Given the description of an element on the screen output the (x, y) to click on. 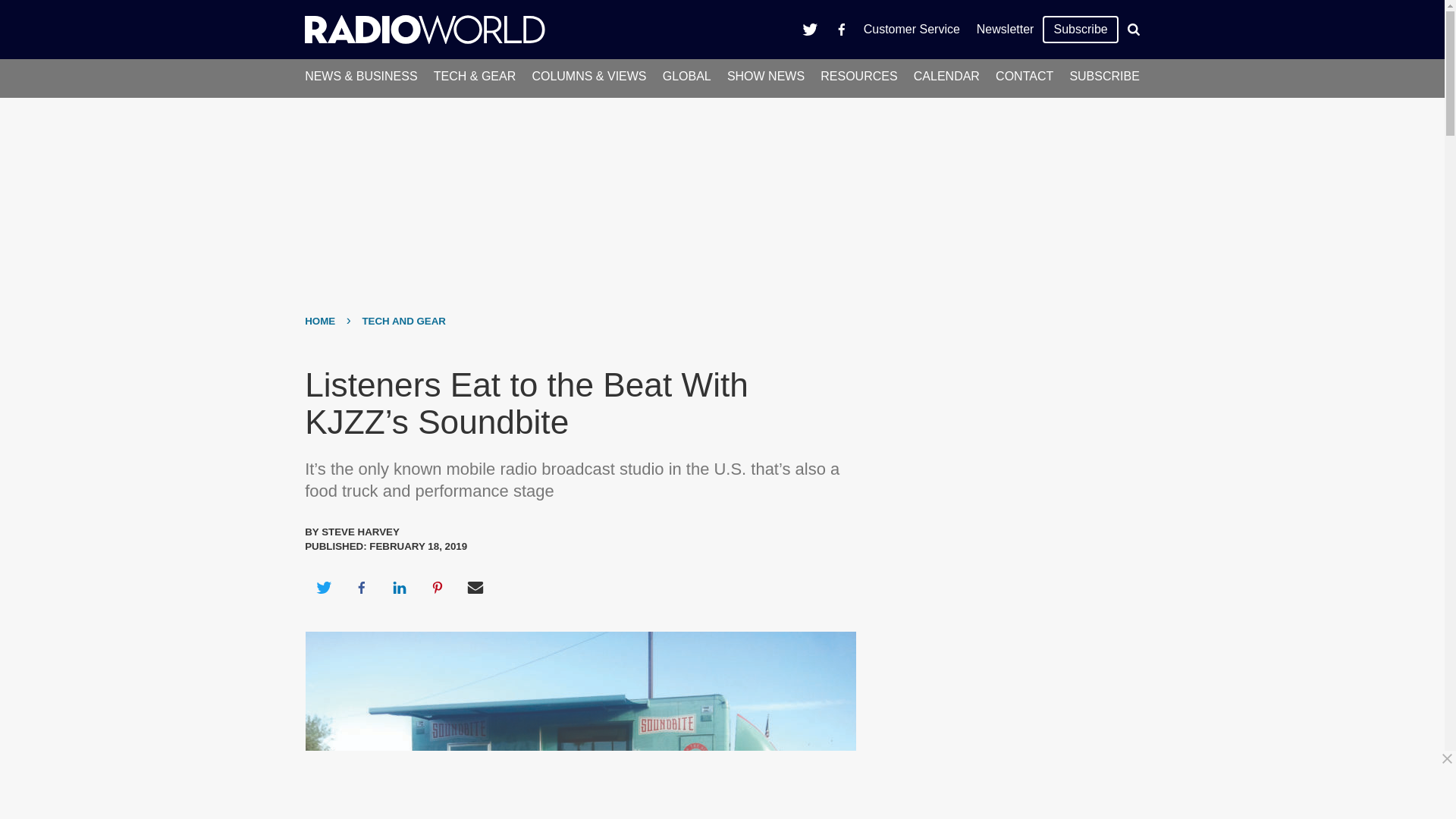
Share on Facebook (361, 587)
Share on Twitter (323, 587)
Customer Service (912, 29)
Newsletter (1005, 29)
Share on LinkedIn (399, 587)
Share on Pinterest (438, 587)
Advertisement (727, 785)
Share via Email (476, 587)
Advertisement (1005, 667)
